Given the description of an element on the screen output the (x, y) to click on. 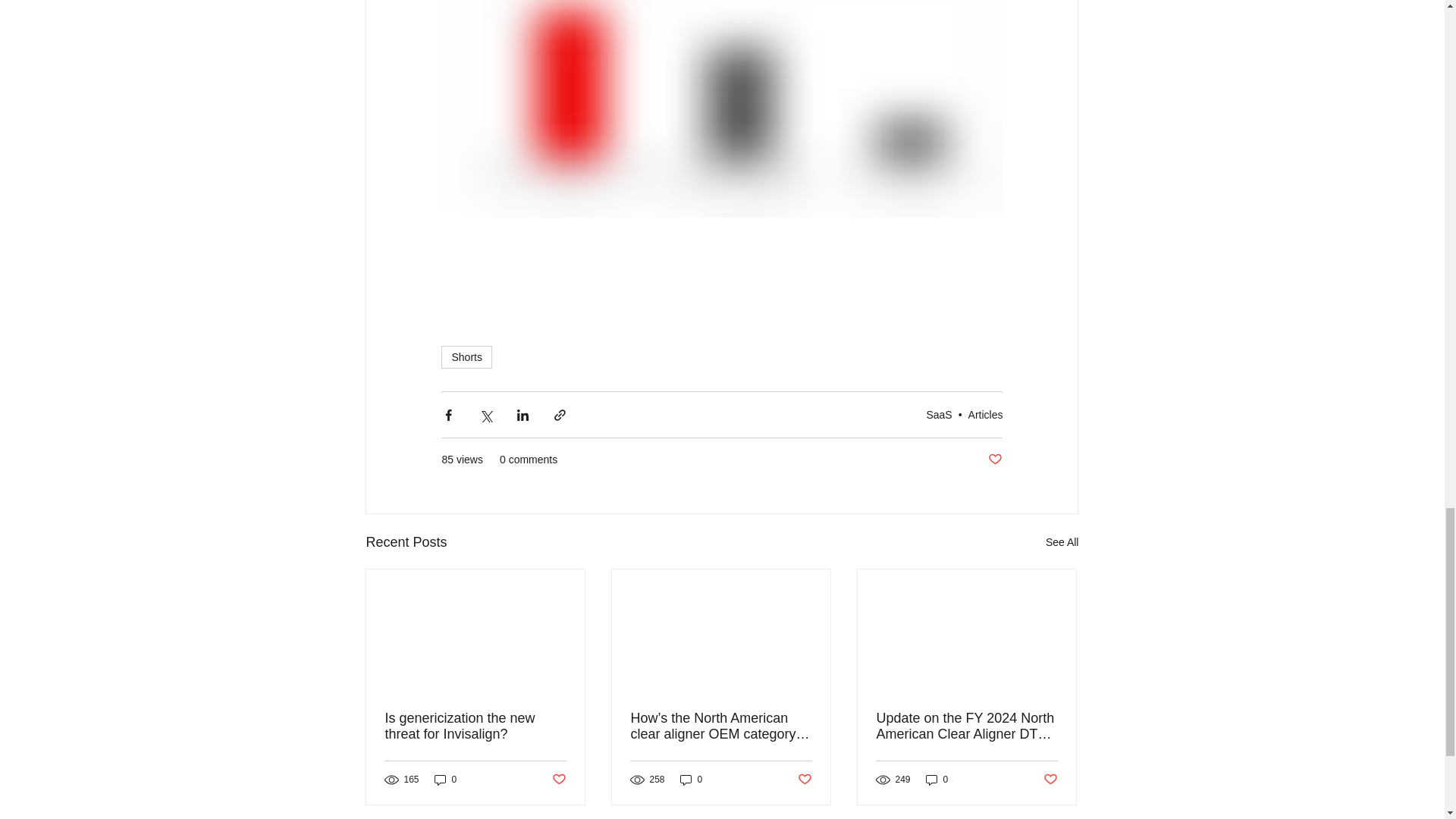
0 (691, 780)
0 (445, 780)
SaaS (939, 414)
Post not marked as liked (558, 779)
0 (937, 780)
Is genericization the new threat for Invisalign? (475, 726)
Post not marked as liked (995, 459)
See All (1061, 542)
Shorts (466, 356)
Post not marked as liked (804, 779)
Articles (985, 414)
